Given the description of an element on the screen output the (x, y) to click on. 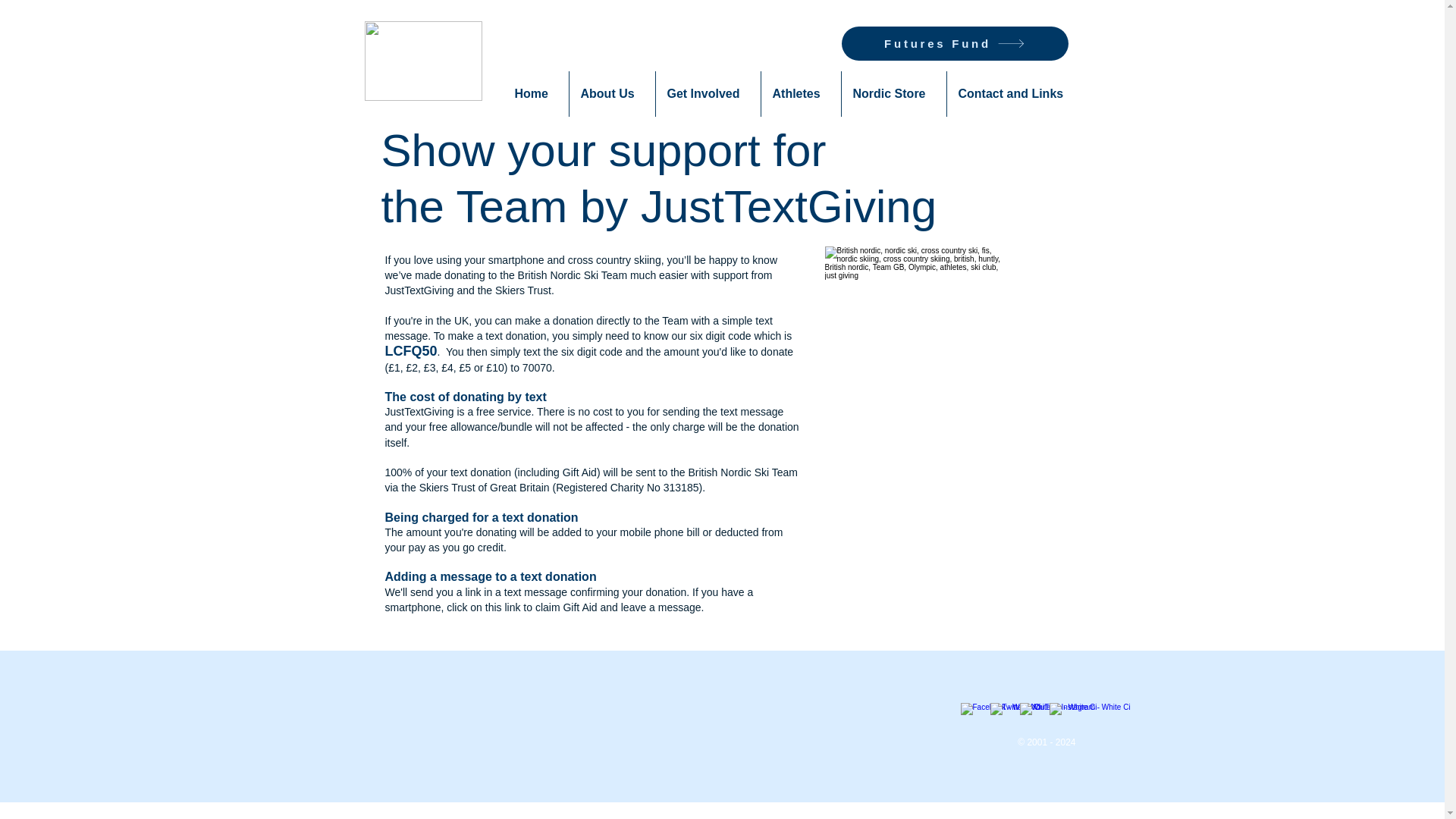
Nordic Store (893, 94)
Home (536, 94)
Futures Fund (954, 43)
Athletes (801, 94)
Contact and Links (1014, 94)
Get Involved (707, 94)
About Us (611, 94)
